Given the description of an element on the screen output the (x, y) to click on. 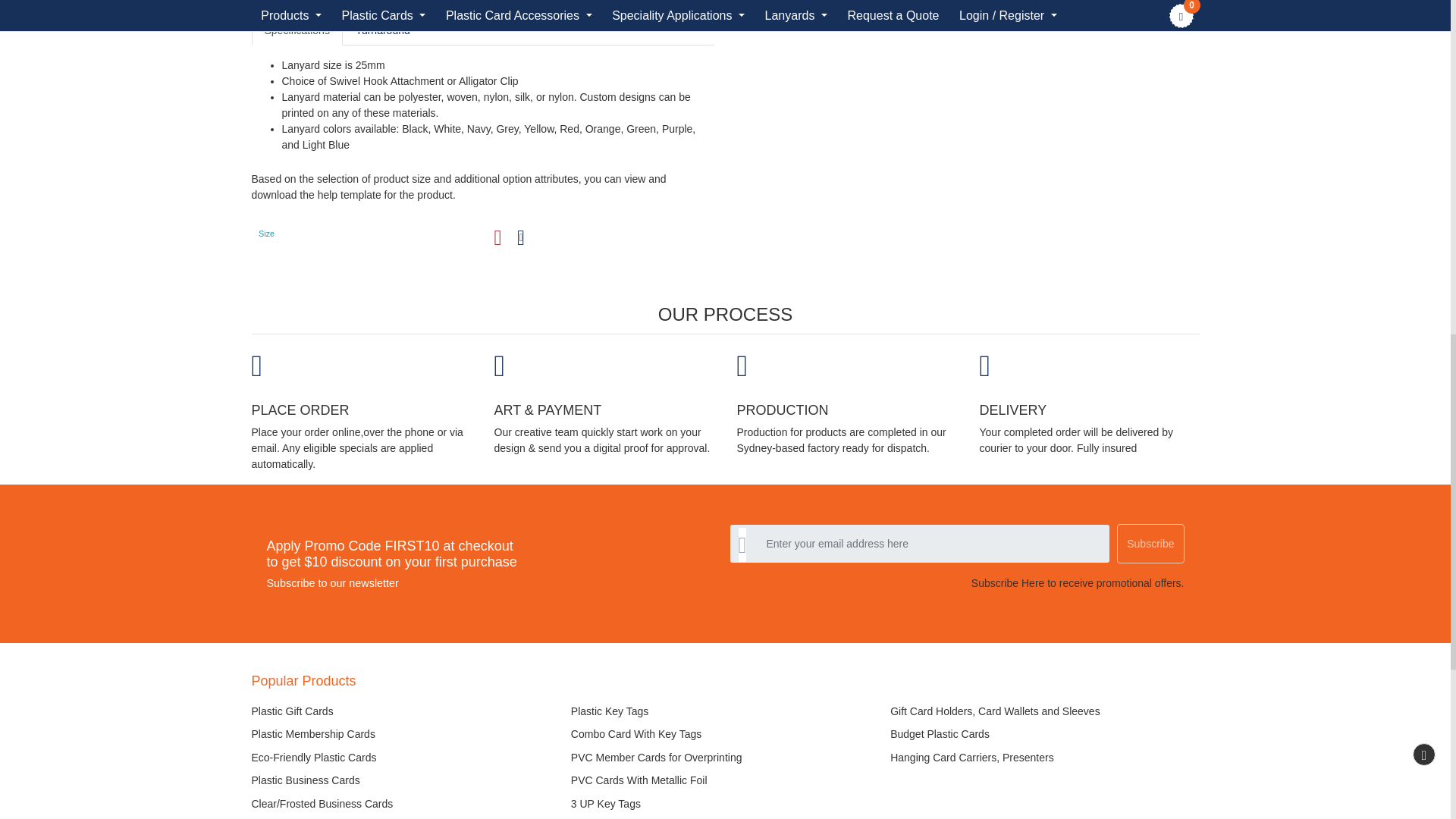
Gift Card Holders, Card Wallets and Sleeves (1043, 707)
Plastic Business Cards (405, 777)
Plastic Key Tags (724, 707)
Combo Card With Key Tags (724, 730)
PVC Member Cards for Overprinting (724, 753)
Eco-Friendly Plastic Cards (405, 753)
View in browser (521, 237)
3 UP Key Tags (724, 800)
Budget Plastic Cards (1043, 730)
Hanging Card Carriers, Presenters (1043, 753)
